Given the description of an element on the screen output the (x, y) to click on. 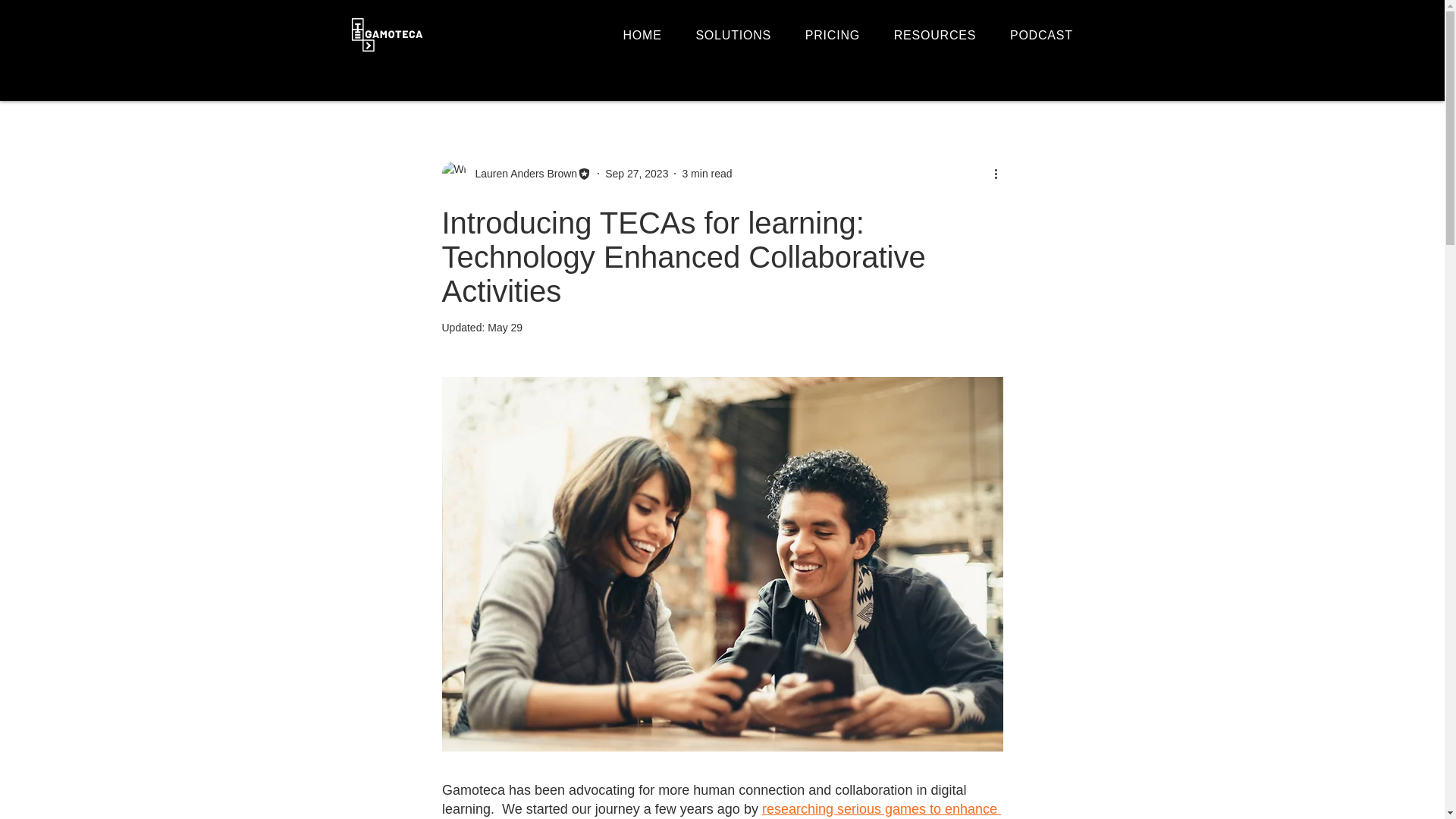
PRICING (838, 35)
3 min read (706, 173)
HOME (648, 35)
May 29 (504, 327)
researching serious games to enhance learning outcomes (720, 810)
Sep 27, 2023 (636, 173)
PODCAST (1048, 35)
Lauren Anders Brown (520, 172)
